Given the description of an element on the screen output the (x, y) to click on. 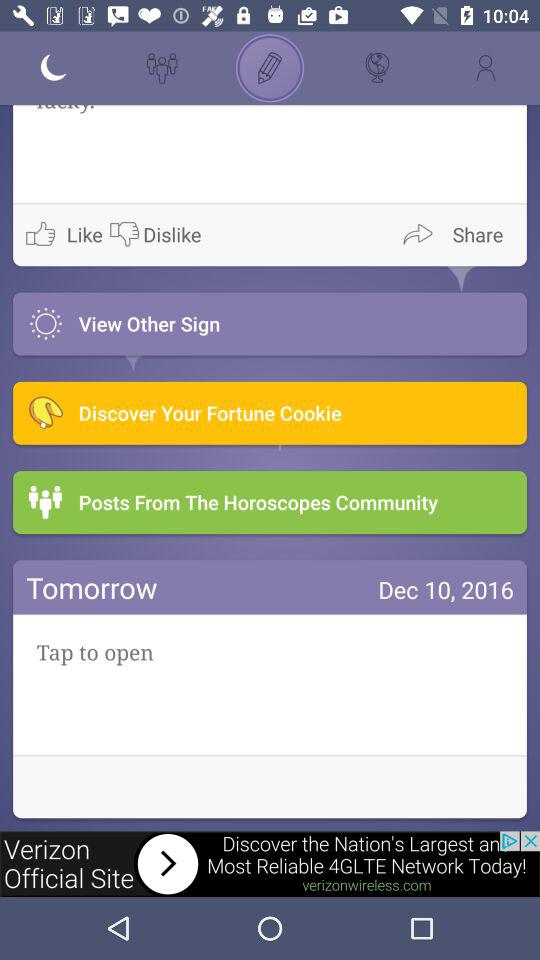
edit (269, 68)
